Given the description of an element on the screen output the (x, y) to click on. 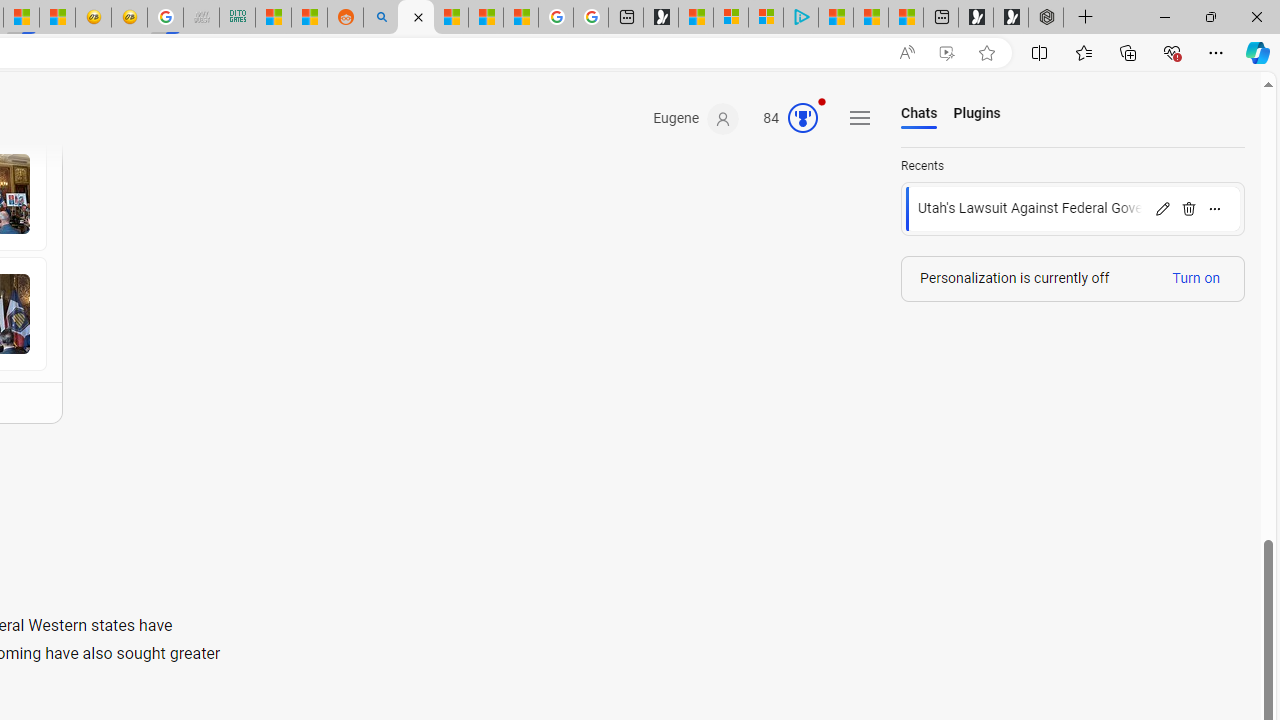
Eugene (695, 119)
These 3 Stocks Pay You More Than 5% to Own Them (905, 17)
